Given the description of an element on the screen output the (x, y) to click on. 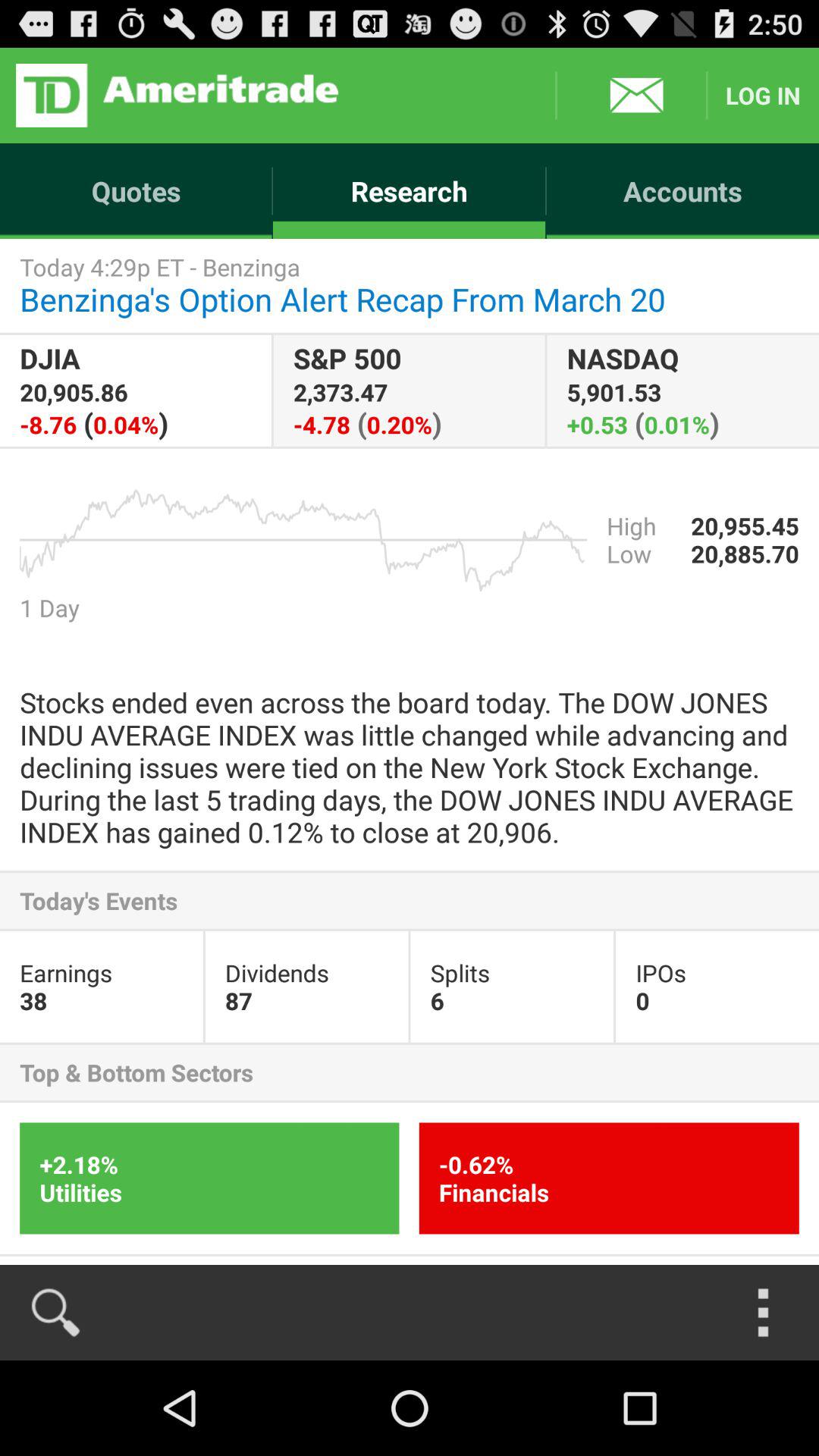
select the item next to the nasdaq 5 901 app (408, 390)
